Given the description of an element on the screen output the (x, y) to click on. 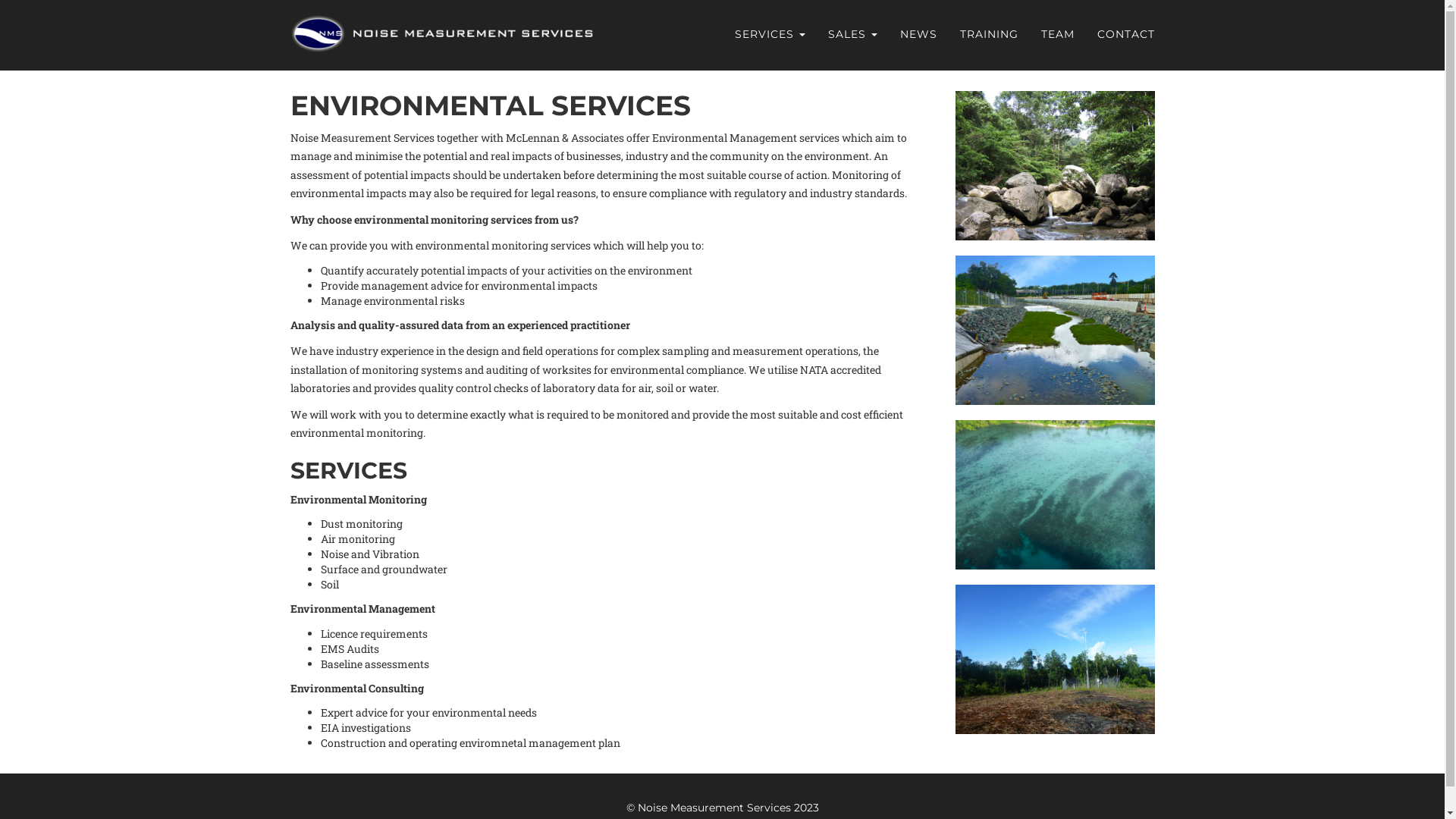
TRAINING Element type: text (988, 33)
SALES Element type: text (851, 33)
SERVICES Element type: text (769, 33)
NEWS Element type: text (918, 33)
CONTACT Element type: text (1125, 33)
TEAM Element type: text (1057, 33)
